Given the description of an element on the screen output the (x, y) to click on. 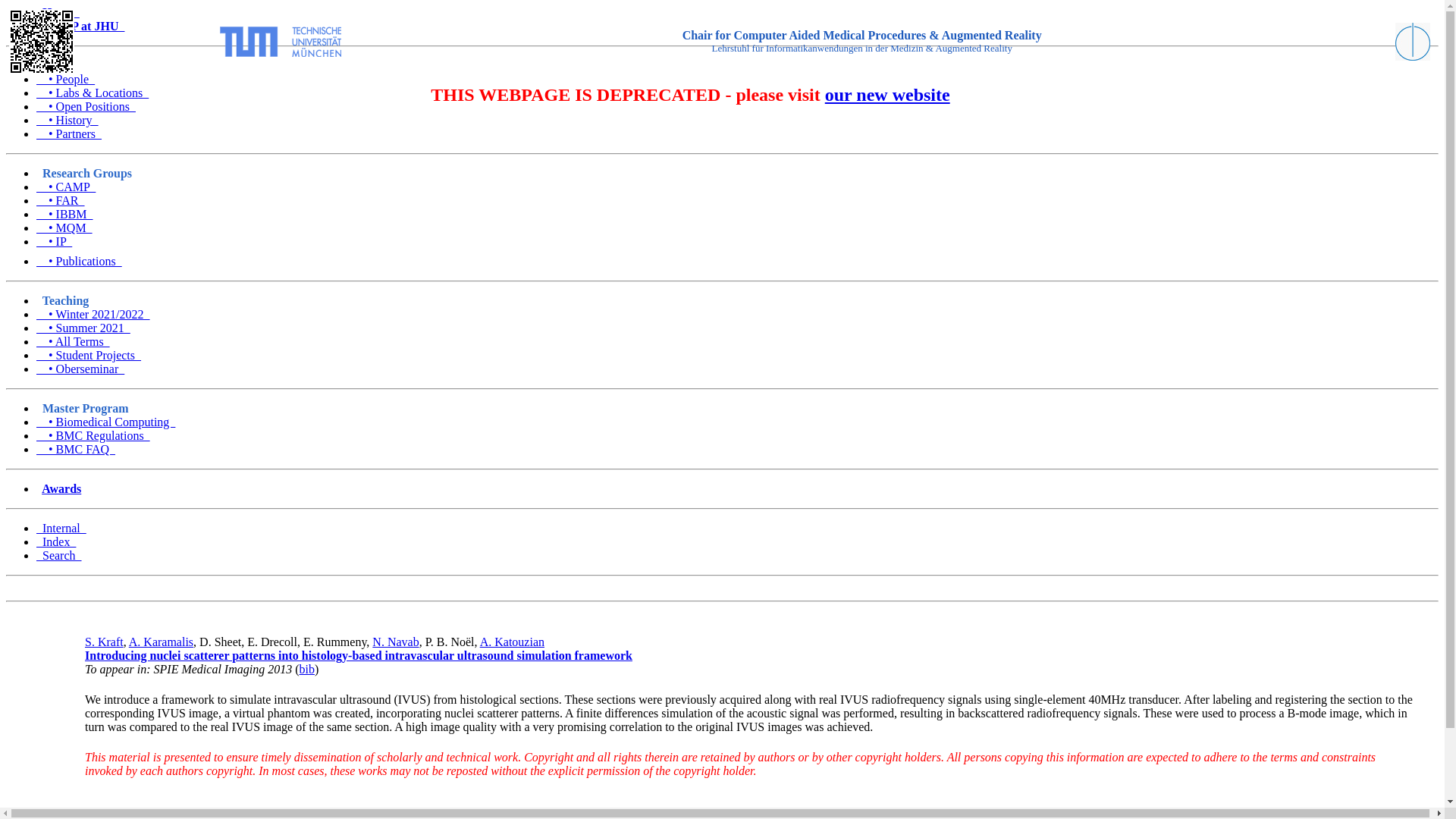
  Internal   (60, 527)
  CAMP at JHU   (79, 25)
Awards (61, 488)
  Search   (58, 554)
our new website (887, 94)
  Home   (58, 11)
A. Karamalis (161, 641)
N. Navab (395, 641)
bib (306, 668)
S. Kraft (103, 641)
A. Katouzian (512, 641)
